Given the description of an element on the screen output the (x, y) to click on. 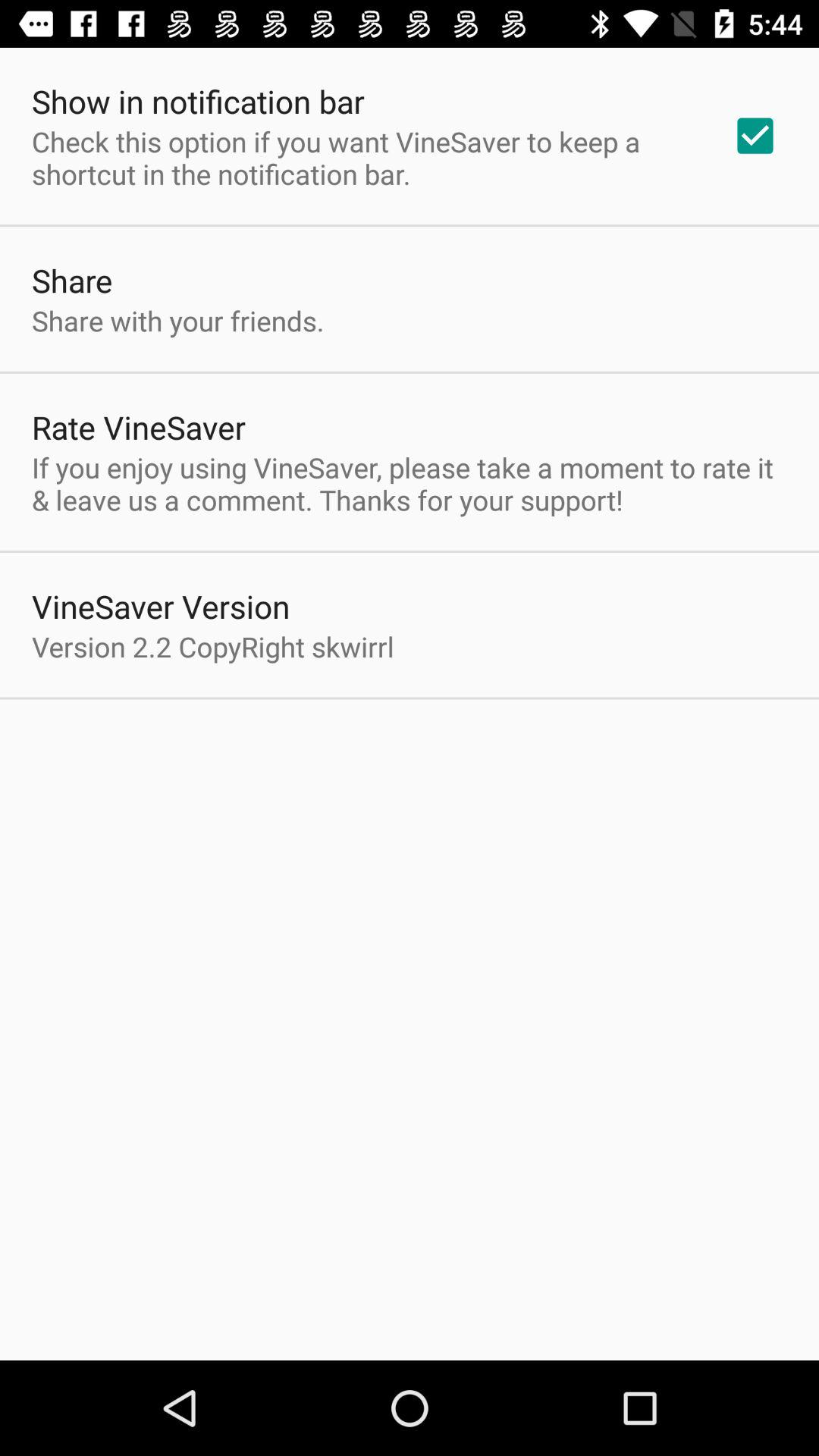
select the item below the if you enjoy app (160, 605)
